Given the description of an element on the screen output the (x, y) to click on. 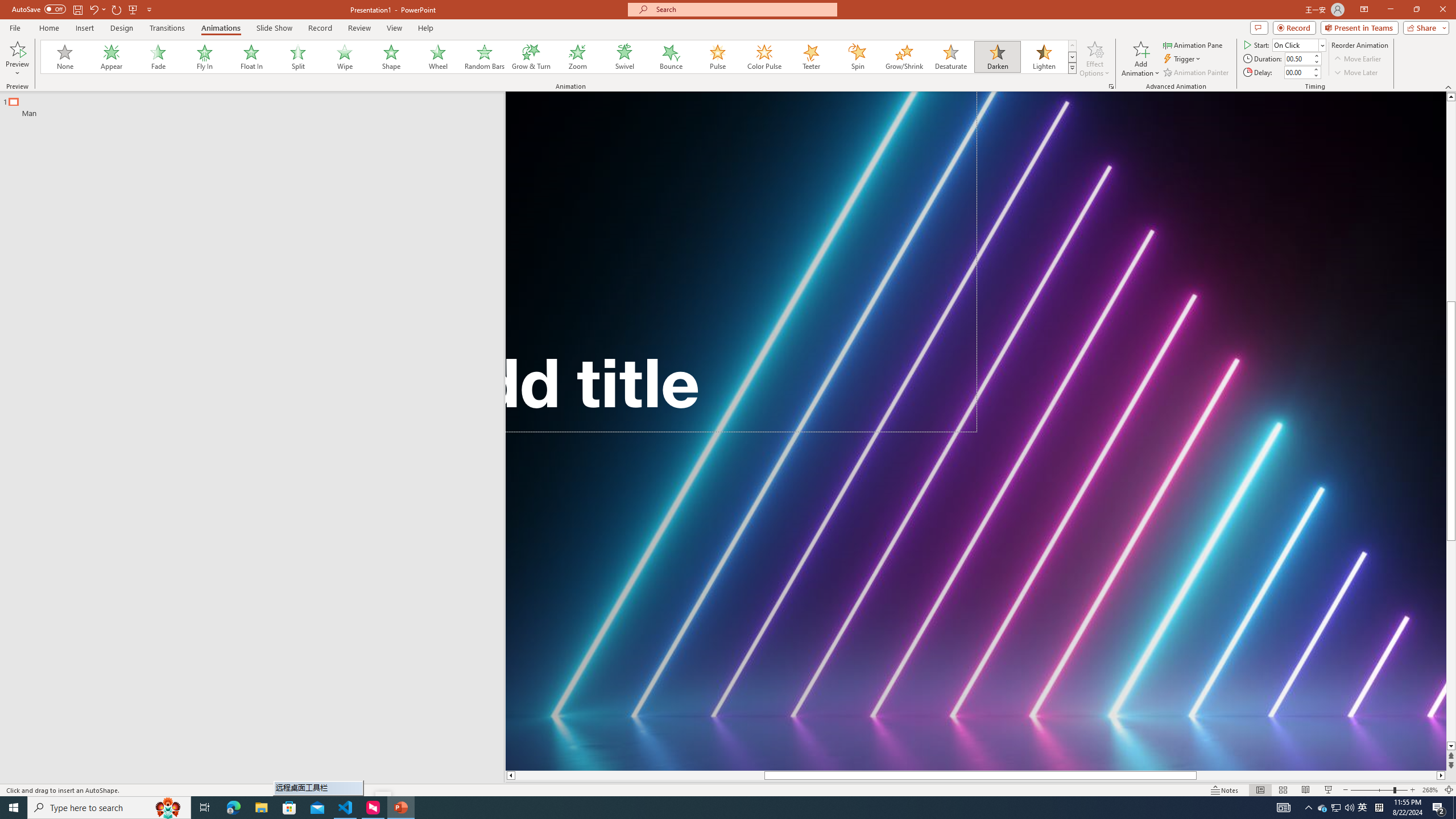
Swivel (624, 56)
Animation Pane (1193, 44)
Animation Delay (1297, 72)
Effect Options (1094, 58)
